Given the description of an element on the screen output the (x, y) to click on. 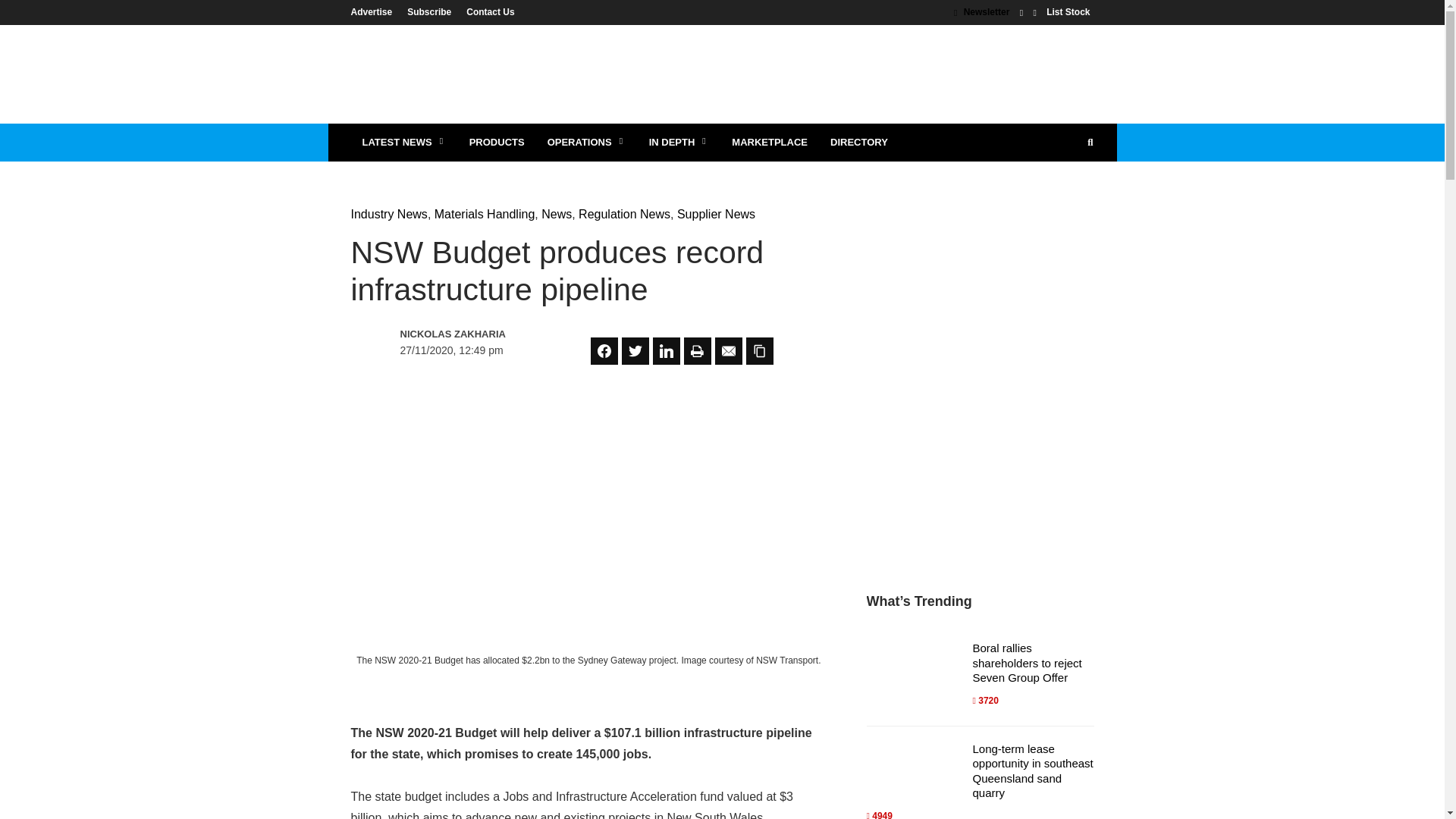
DIRECTORY (858, 142)
News (556, 214)
MARKETPLACE (769, 142)
Share on Copy Link (759, 350)
Share on Print (697, 350)
Share on Email (728, 350)
LATEST NEWS (403, 142)
Share on LinkedIn (665, 350)
Contact Us (485, 11)
Subscribe (428, 11)
